Given the description of an element on the screen output the (x, y) to click on. 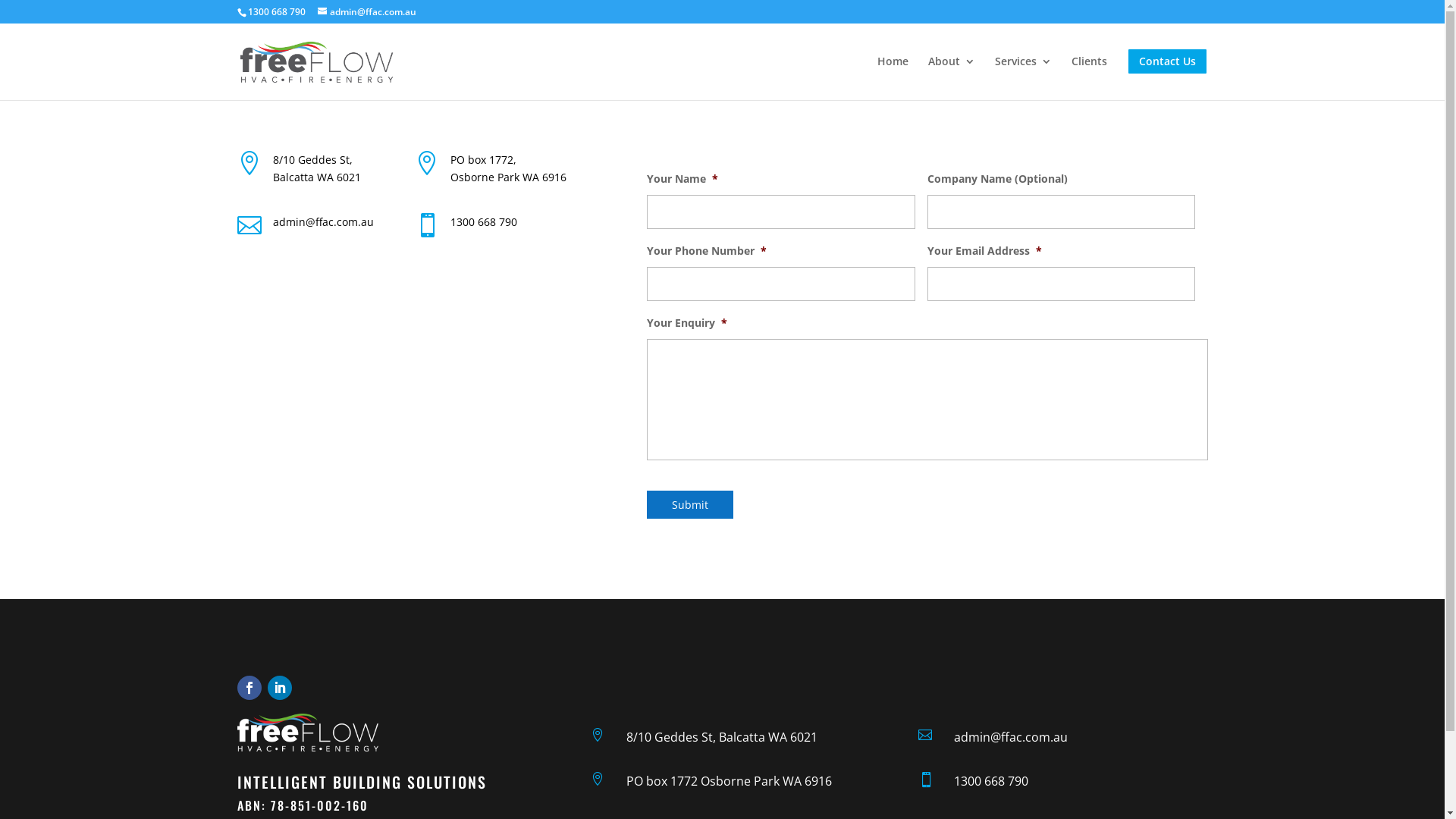
Contact Us Element type: text (1167, 73)
admin@ffac.com.au Element type: text (365, 11)
Submit Element type: text (689, 504)
Follow on Facebook Element type: hover (248, 687)
Clients Element type: text (1088, 73)
About Element type: text (951, 73)
Home Element type: text (891, 73)
FreeFlow_HVAC-Fire-Energy_white Element type: hover (306, 732)
Follow on LinkedIn Element type: hover (278, 687)
Services Element type: text (1022, 73)
